Given the description of an element on the screen output the (x, y) to click on. 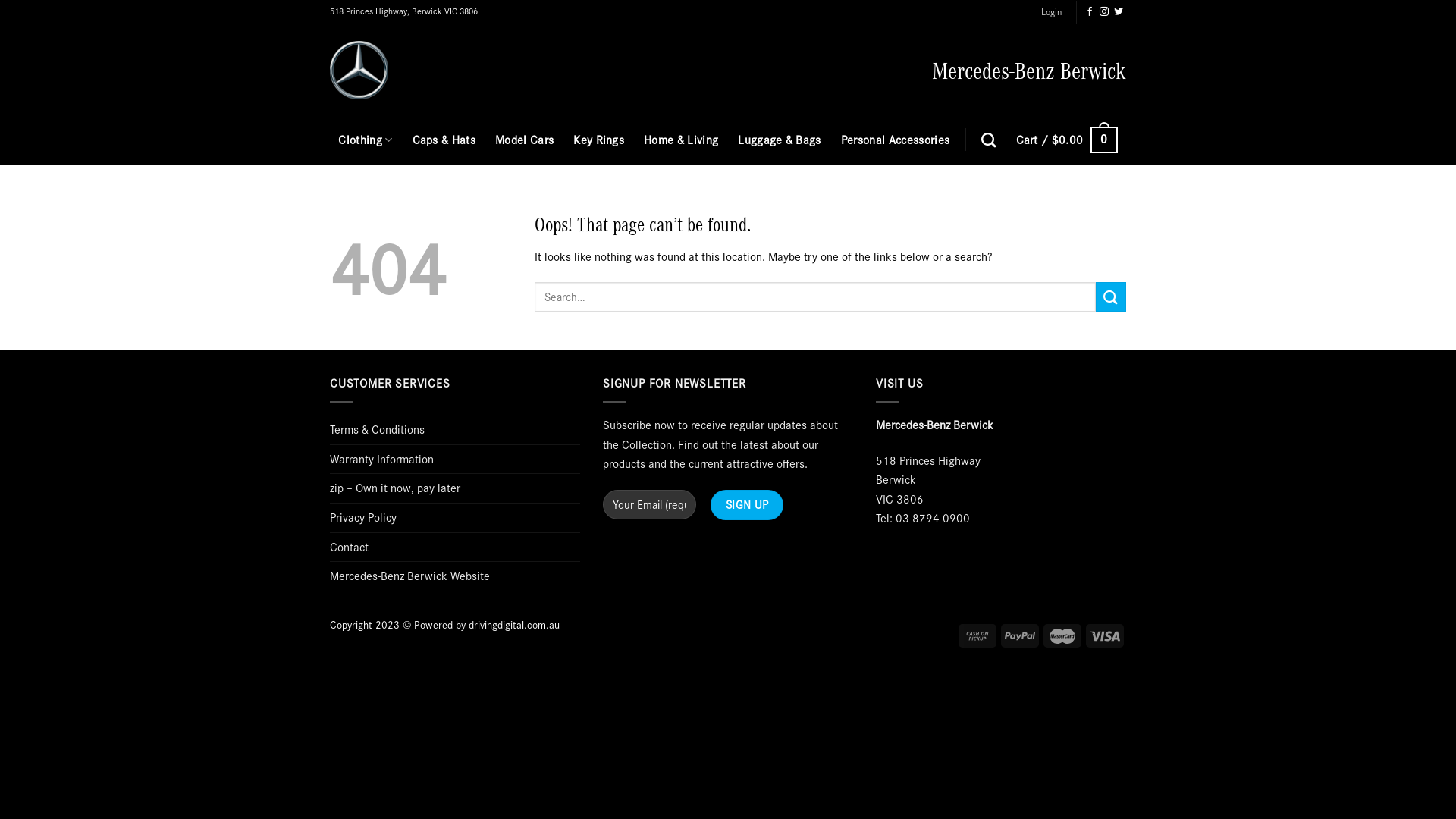
Key Rings Element type: text (598, 139)
Sign Up Element type: text (746, 504)
Model Cars Element type: text (524, 139)
Clothing Element type: text (365, 139)
Luggage & Bags Element type: text (778, 139)
Terms & Conditions Element type: text (376, 429)
03 8794 0900 Element type: text (932, 517)
Warranty Information Element type: text (381, 459)
Cart / $0.00
0 Element type: text (1066, 139)
Personal Accessories Element type: text (894, 139)
Home & Living Element type: text (680, 139)
Login Element type: text (1051, 11)
Contact Element type: text (348, 547)
Caps & Hats Element type: text (444, 139)
drivingdigital.com.au Element type: text (513, 624)
Mercedes-Benz Berwick Website Element type: text (409, 575)
Privacy Policy Element type: text (362, 517)
